Given the description of an element on the screen output the (x, y) to click on. 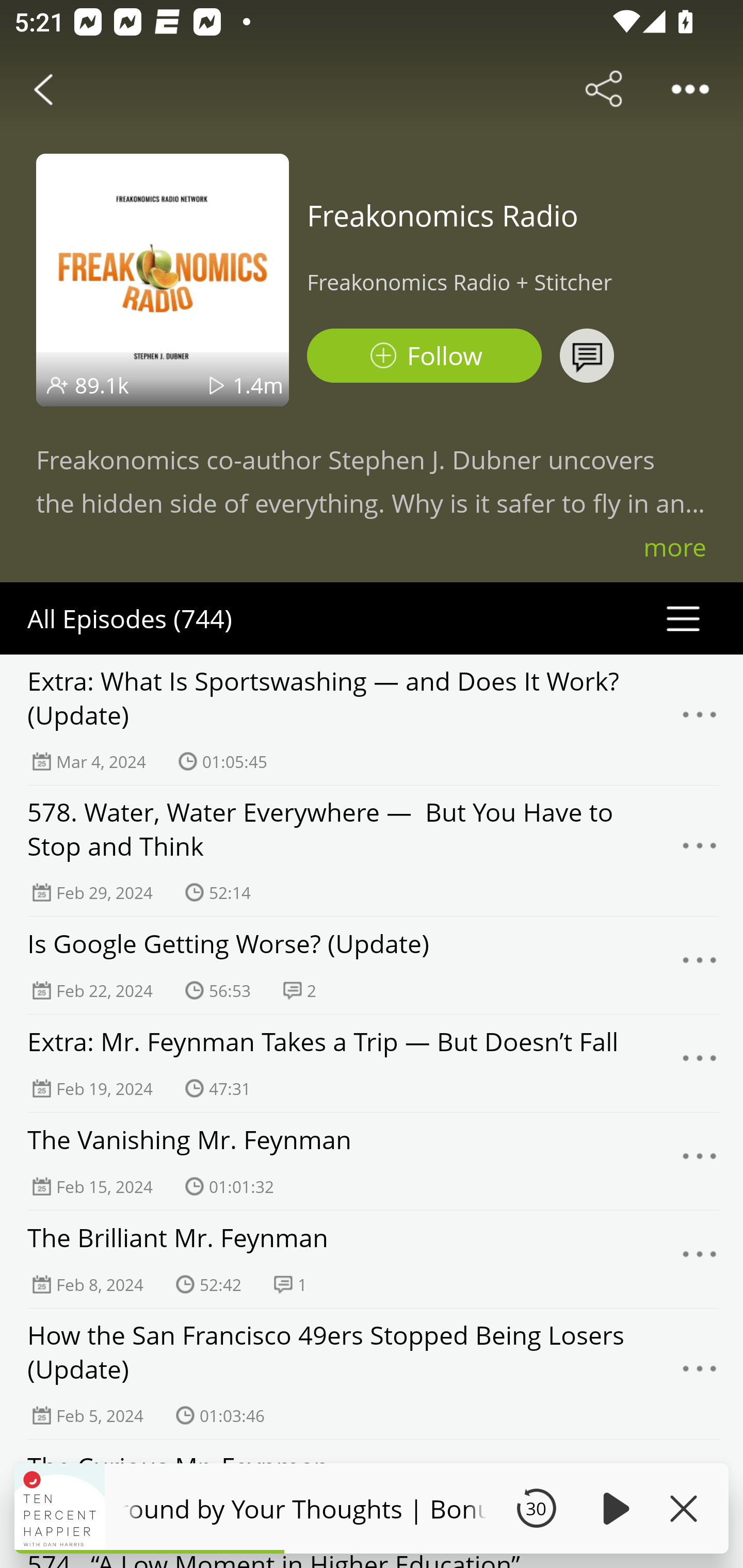
Back (43, 88)
Podbean Follow (423, 355)
89.1k (102, 384)
more (674, 546)
Menu (699, 720)
Menu (699, 850)
Menu (699, 964)
Menu (699, 1063)
Menu (699, 1160)
The Brilliant Mr. Feynman Feb 8, 2024 52:42 1 Menu (371, 1259)
Menu (699, 1259)
Menu (699, 1374)
Play (613, 1507)
30 Seek Backward (536, 1508)
